Given the description of an element on the screen output the (x, y) to click on. 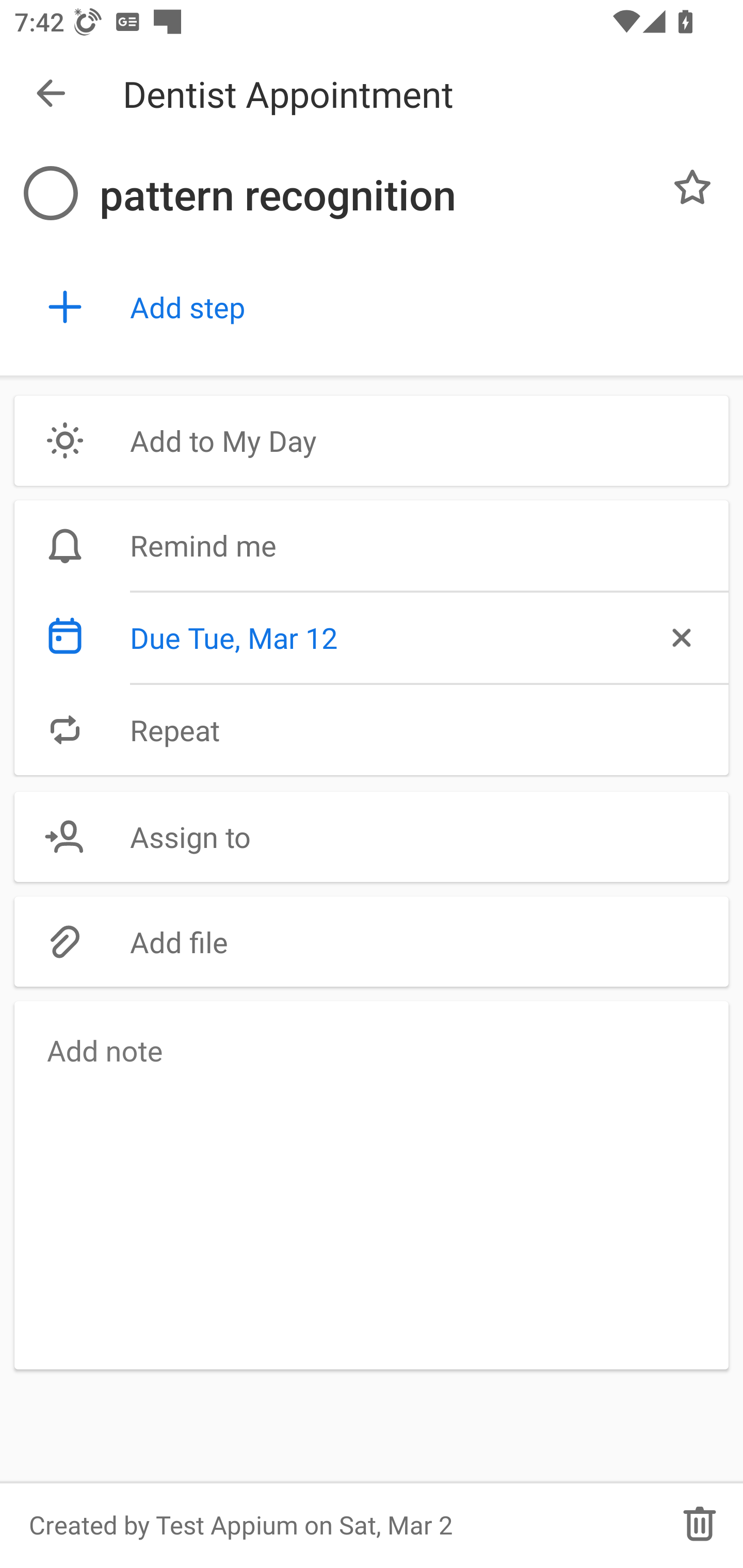
Dismiss detail view (50, 93)
Incomplete task pattern recognition, Button (50, 192)
pattern recognition (374, 195)
Normal task pattern recognition, Button (692, 187)
Add step (422, 307)
Add to My Day (371, 440)
Remind me (371, 545)
Due Tue, Mar 12 Due Tue, Mar 12 Remove due date (371, 637)
Remove due date (679, 637)
Repeat (371, 729)
Assign to (371, 836)
Add file (371, 941)
Add note, Button Email Renderer Add note (371, 1184)
Delete task (699, 1524)
